Given the description of an element on the screen output the (x, y) to click on. 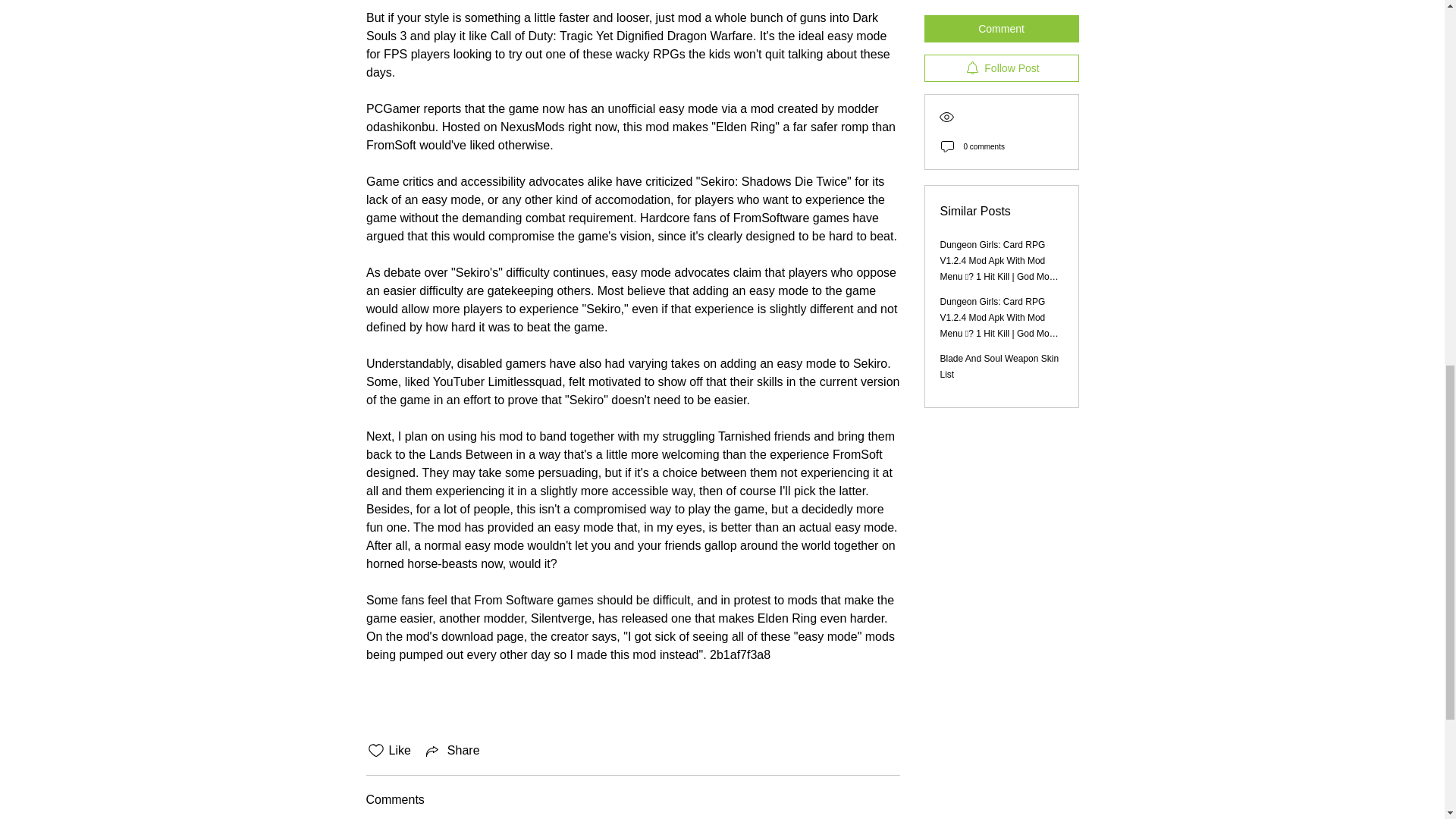
Share (451, 751)
